Given the description of an element on the screen output the (x, y) to click on. 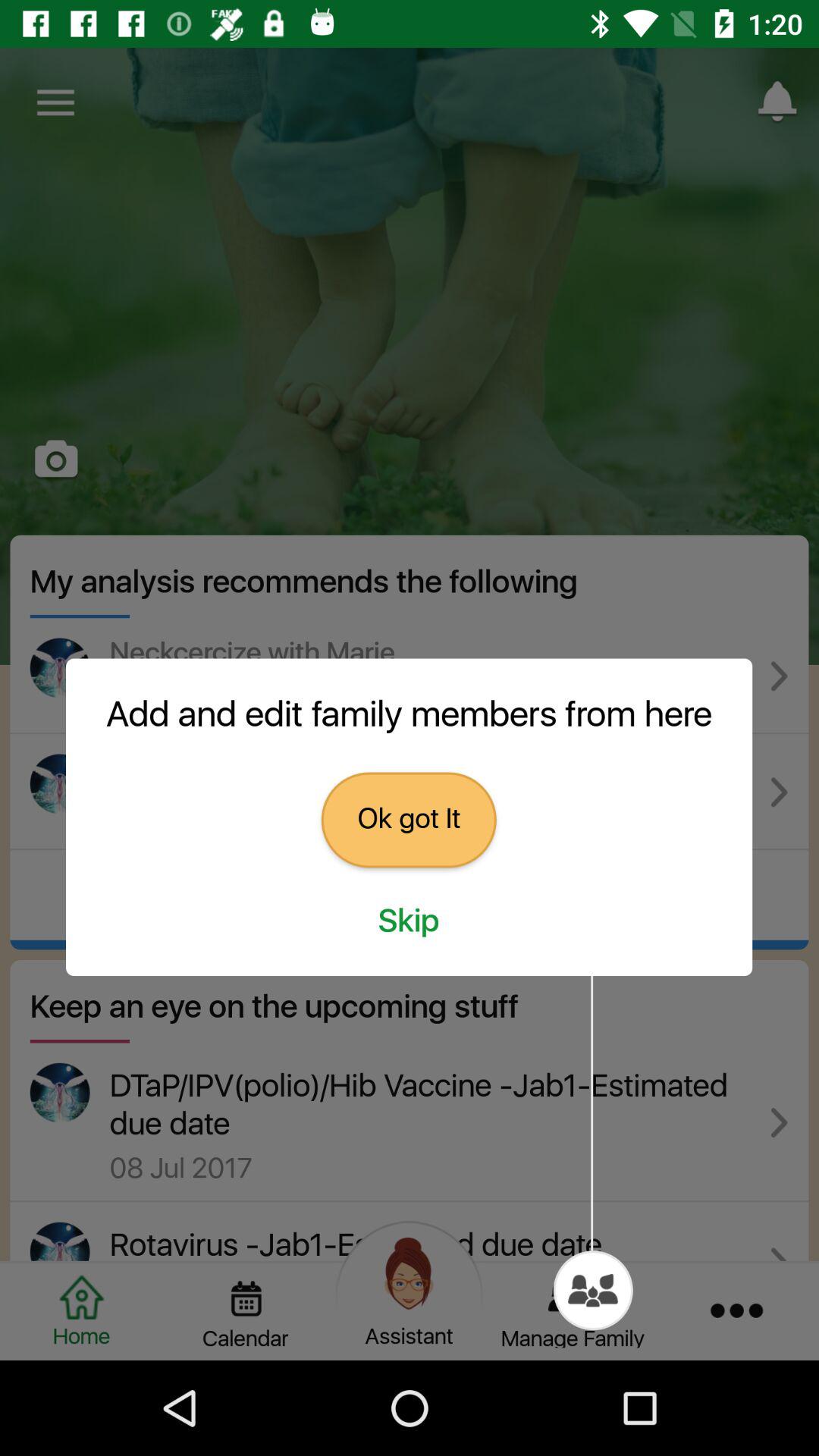
turn off item below the ok got it item (408, 921)
